Given the description of an element on the screen output the (x, y) to click on. 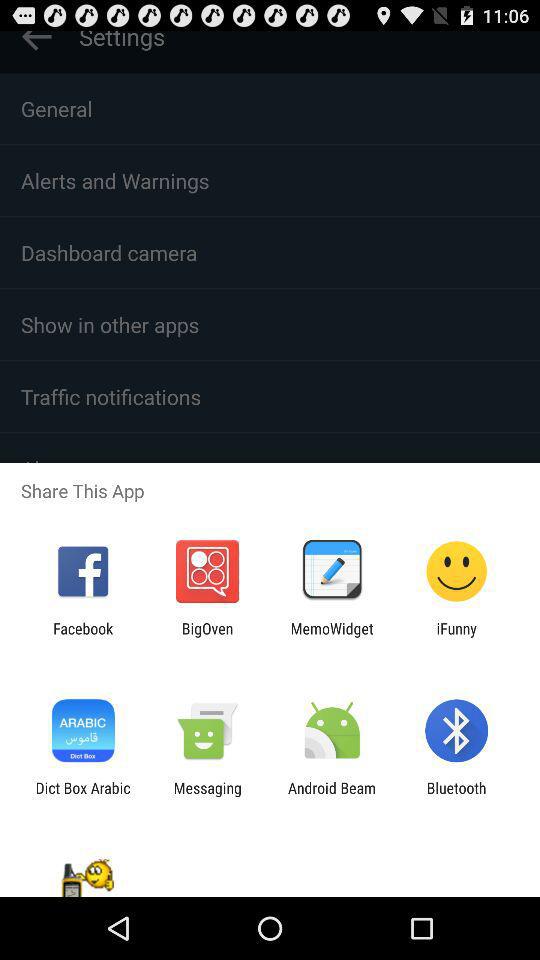
flip until messaging icon (207, 796)
